Given the description of an element on the screen output the (x, y) to click on. 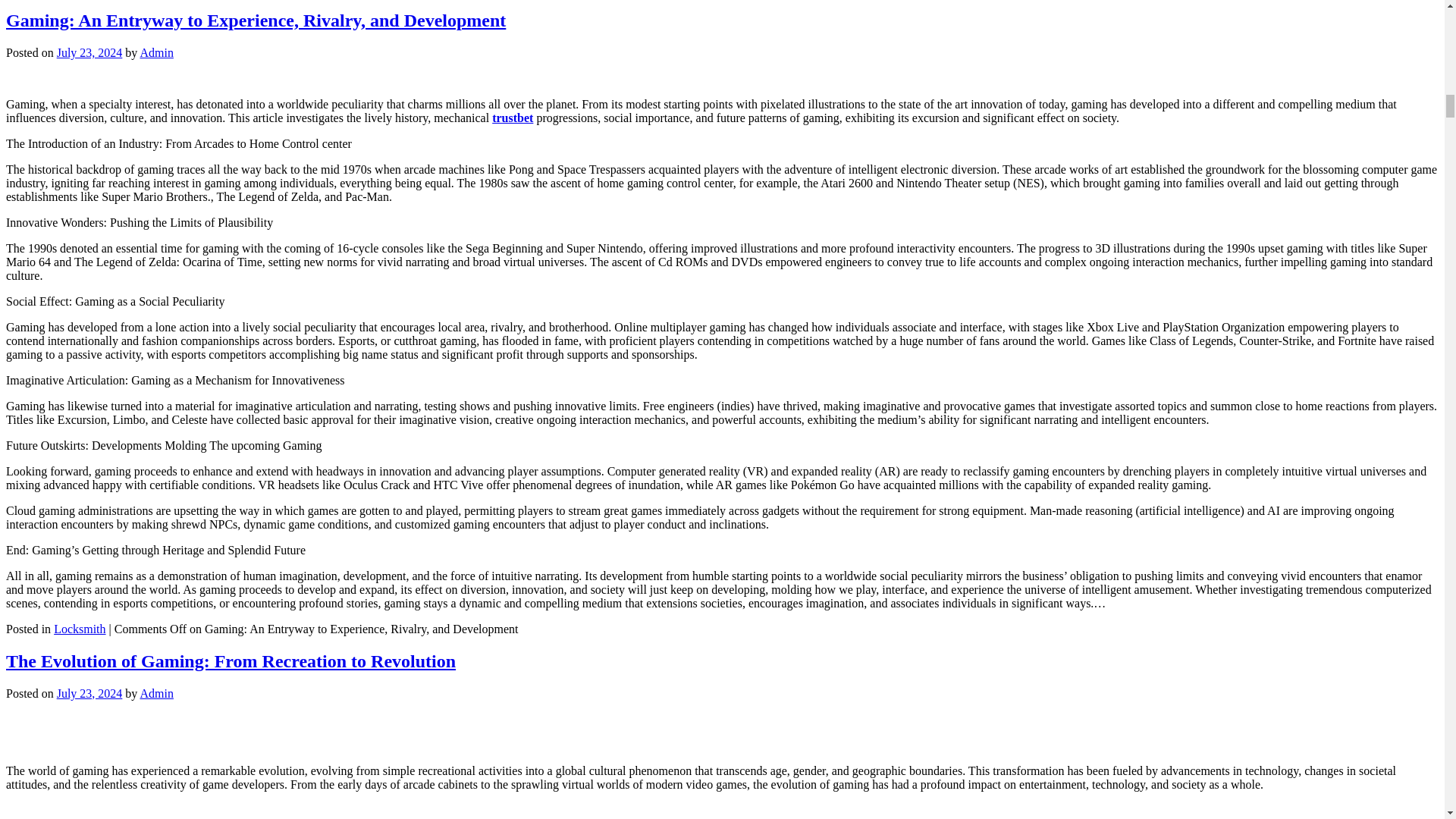
View all posts by Admin (156, 51)
